Given the description of an element on the screen output the (x, y) to click on. 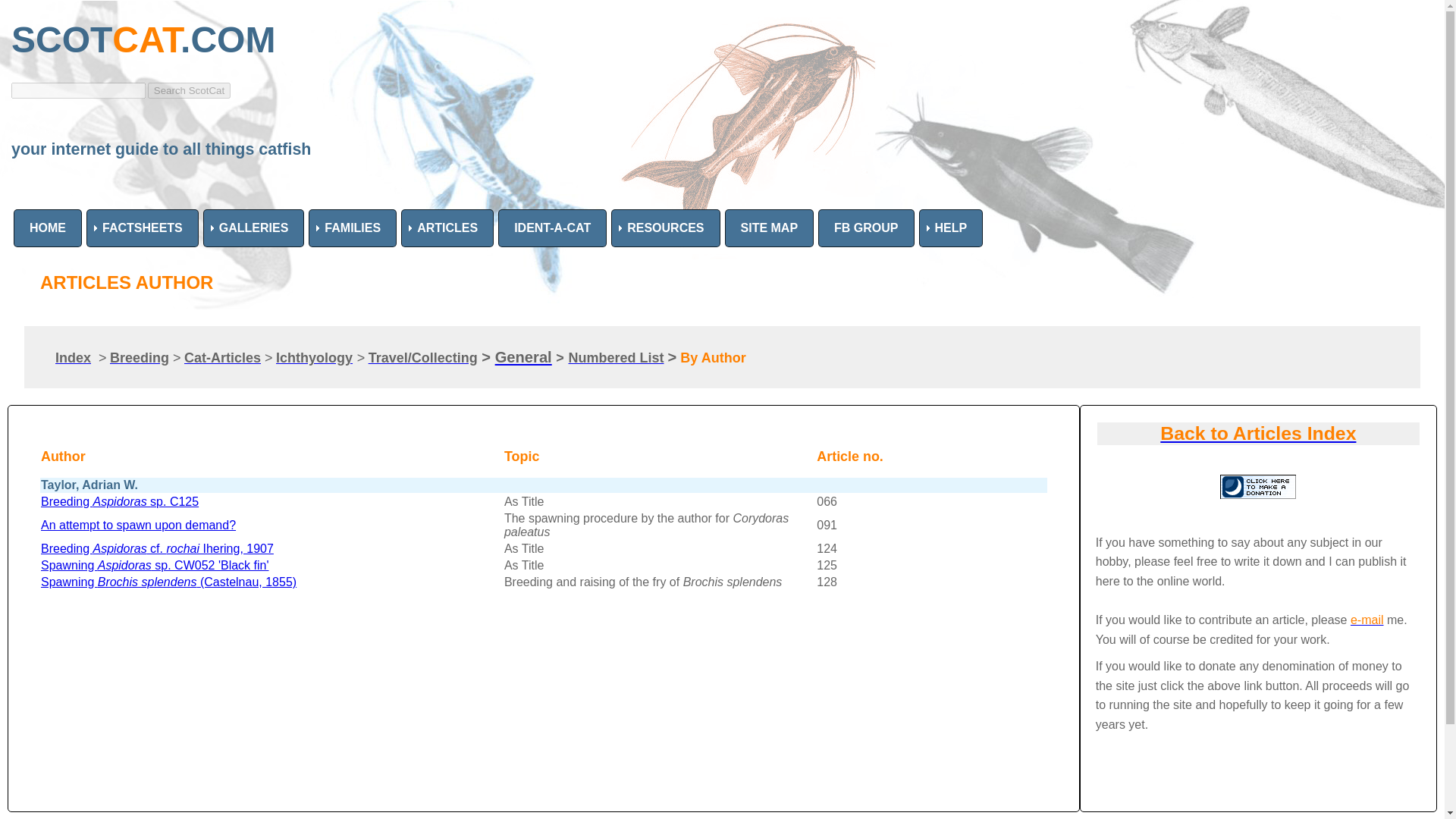
FACTSHEETS (141, 228)
FAMILIES (352, 228)
Search ScotCat (189, 90)
HOME (47, 228)
GALLERIES (253, 228)
